Given the description of an element on the screen output the (x, y) to click on. 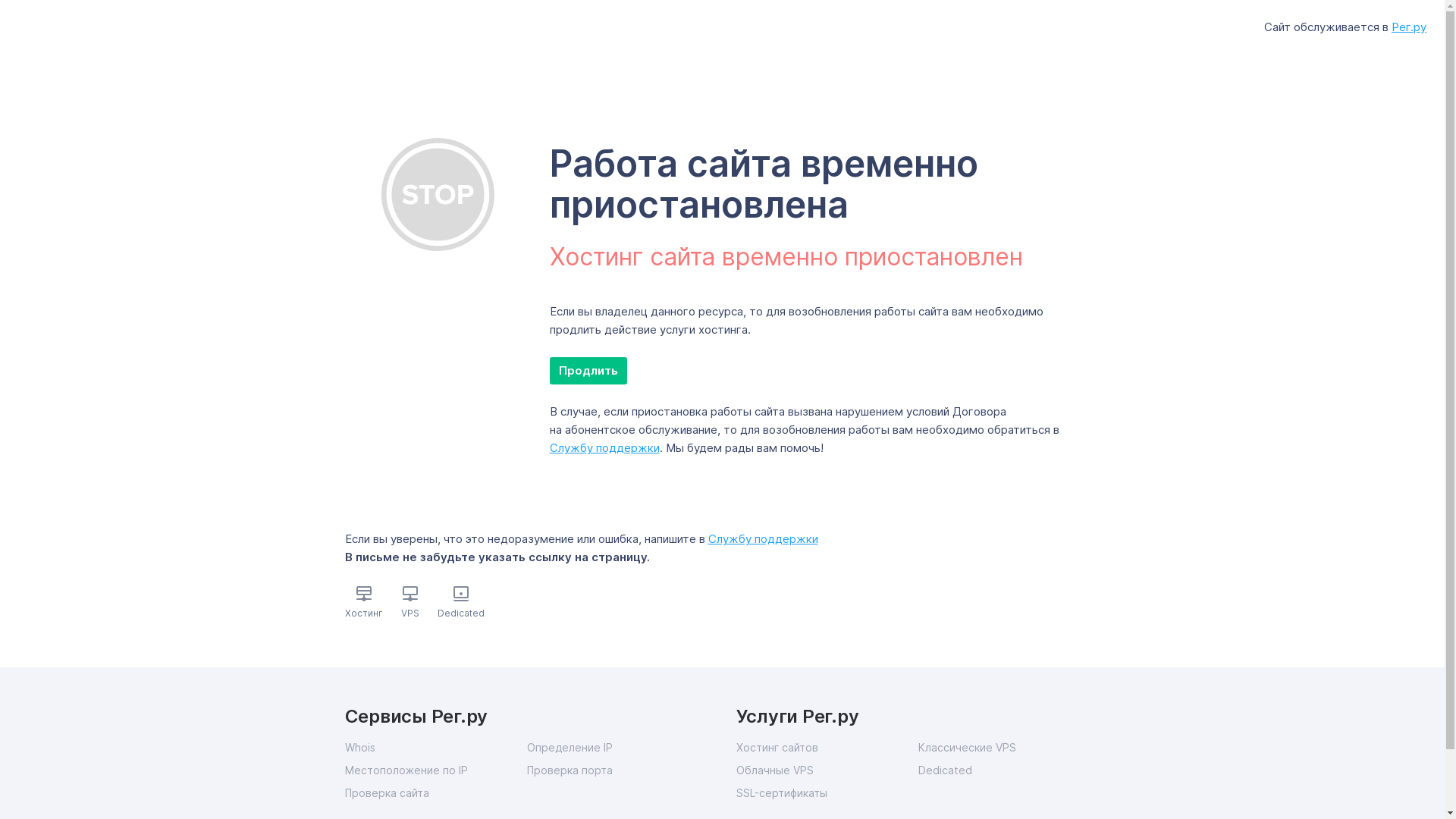
Dedicated Element type: text (1008, 770)
VPS Element type: text (409, 612)
Whois Element type: text (435, 747)
